Given the description of an element on the screen output the (x, y) to click on. 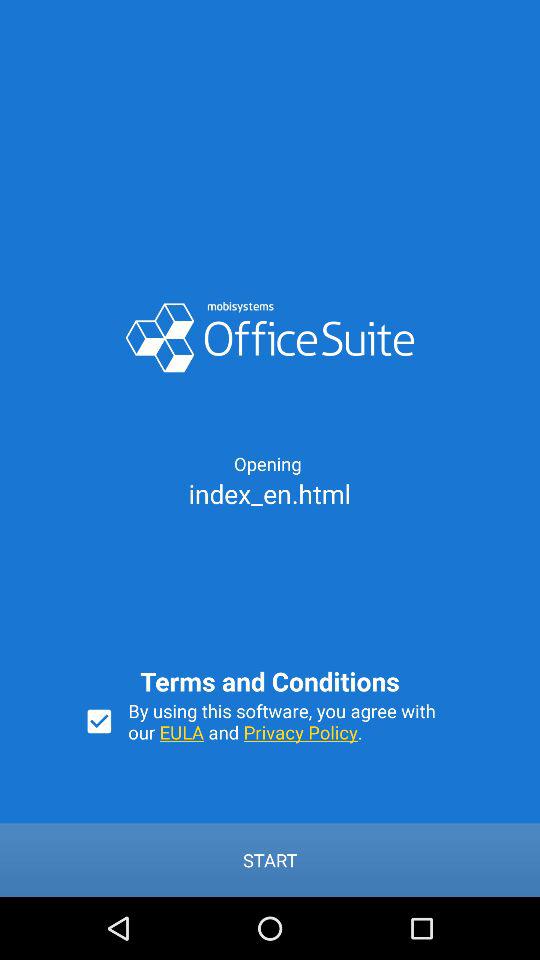
press the start button (270, 859)
